Given the description of an element on the screen output the (x, y) to click on. 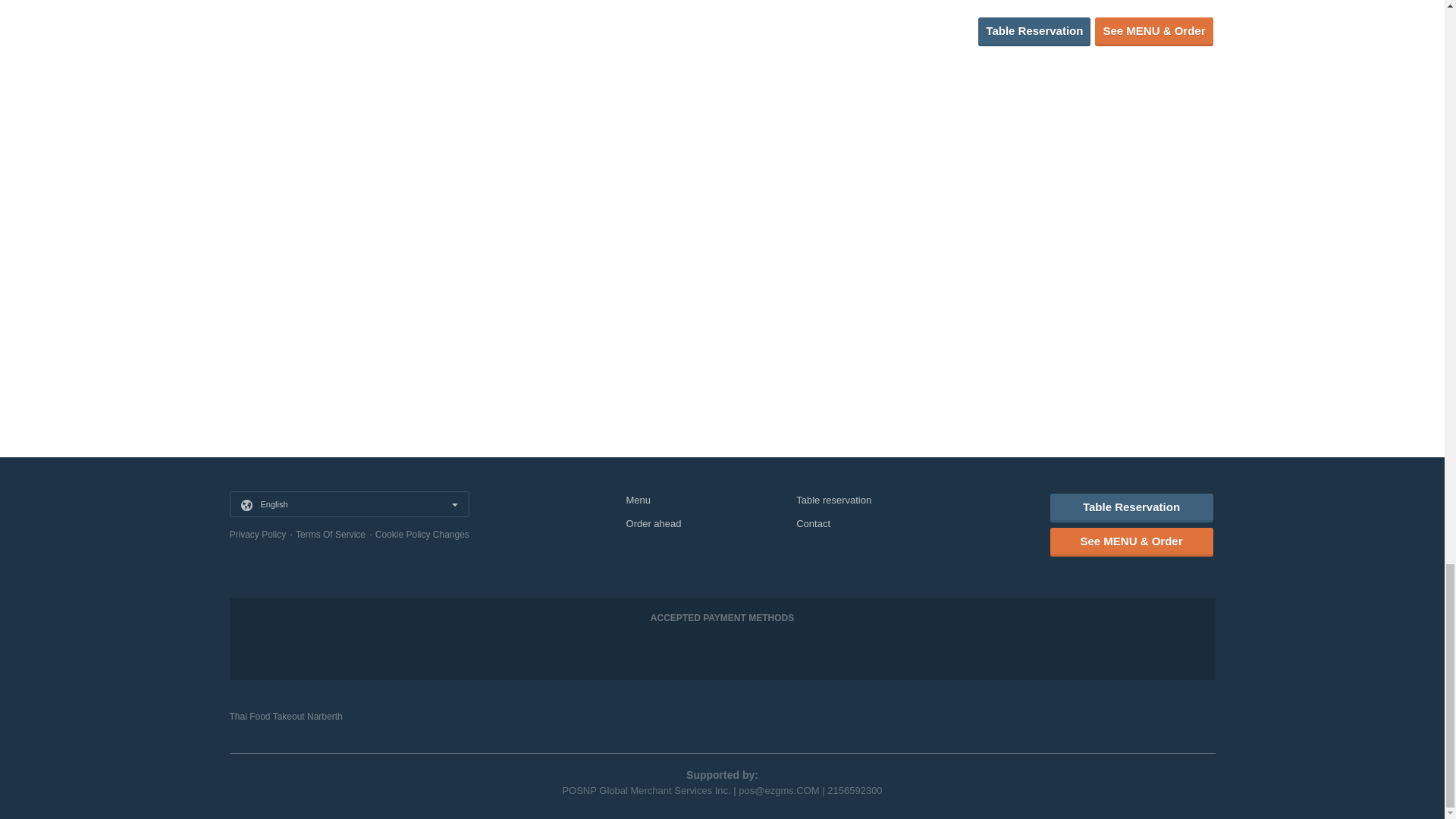
Menu (638, 500)
Cookie Policy Changes (421, 534)
Privacy Policy (256, 534)
Terms Of Service (330, 534)
Table reservation (833, 500)
Thai Food Takeout Narberth (285, 716)
Contact (812, 523)
Order ahead (653, 523)
